Given the description of an element on the screen output the (x, y) to click on. 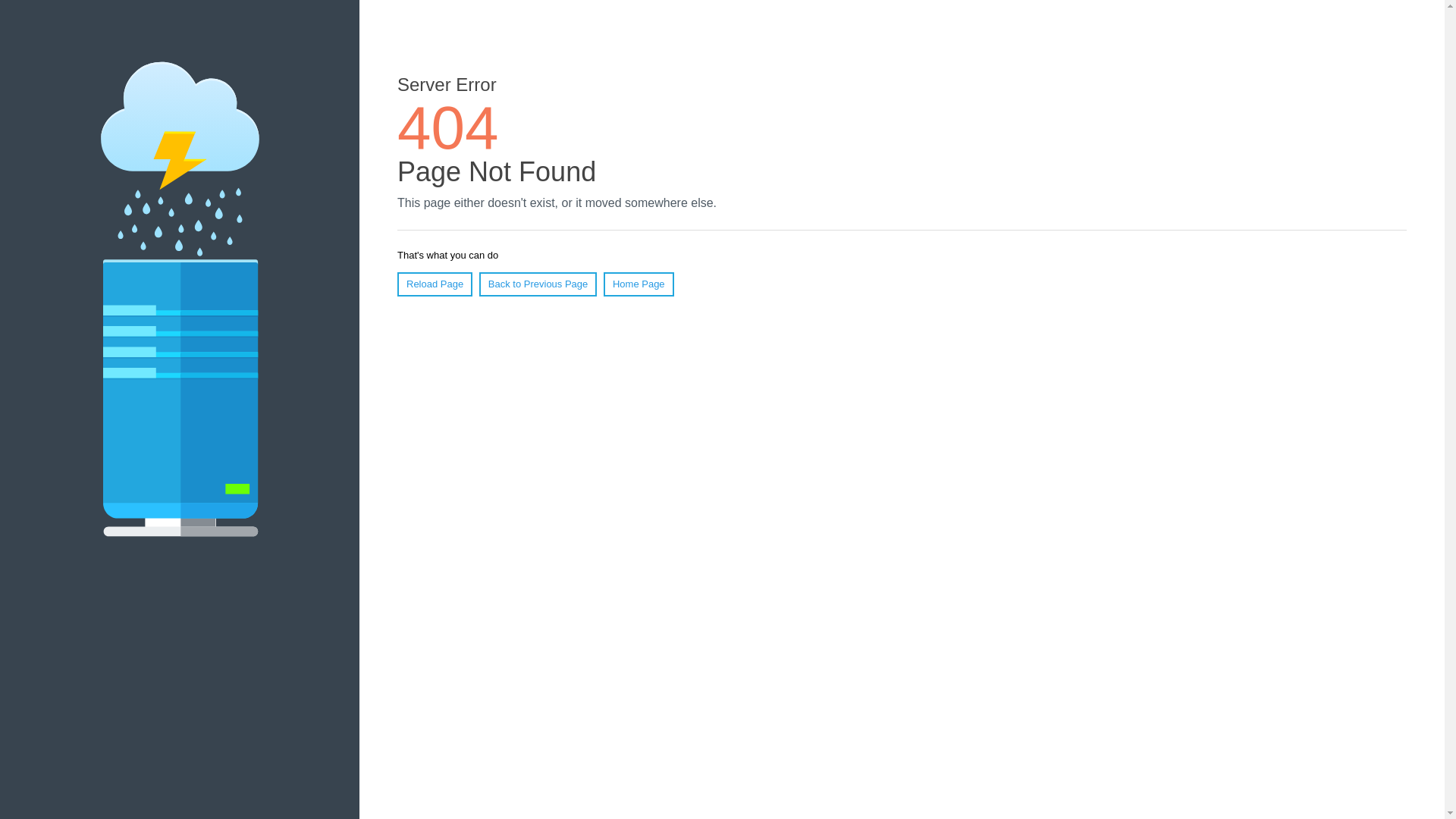
Back to Previous Page Element type: text (538, 284)
Home Page Element type: text (638, 284)
Reload Page Element type: text (434, 284)
